Given the description of an element on the screen output the (x, y) to click on. 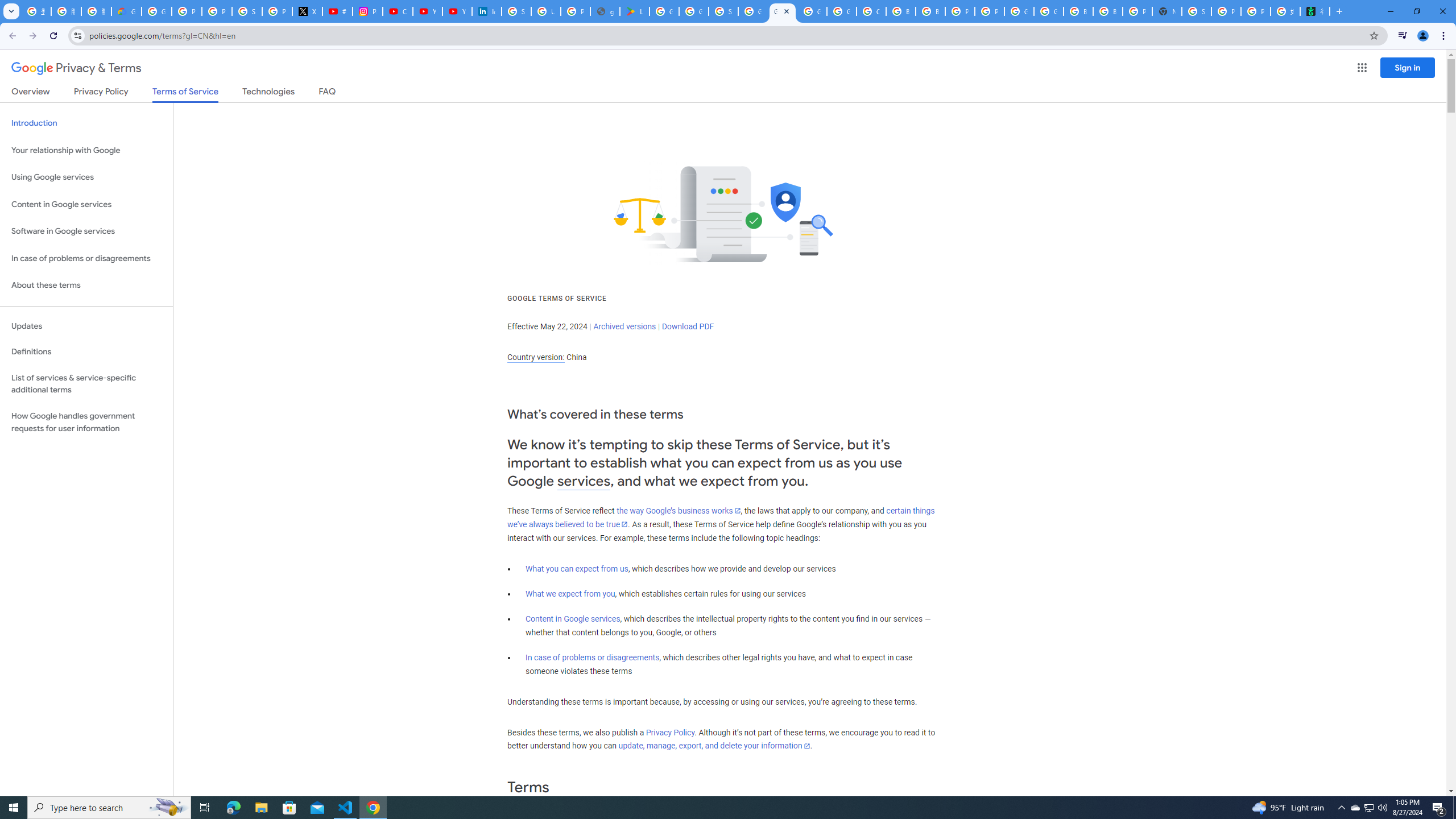
update, manage, export, and delete your information (714, 746)
Download PDF (687, 326)
Privacy Help Center - Policies Help (216, 11)
New Tab (1166, 11)
Google Cloud Platform (1018, 11)
